Given the description of an element on the screen output the (x, y) to click on. 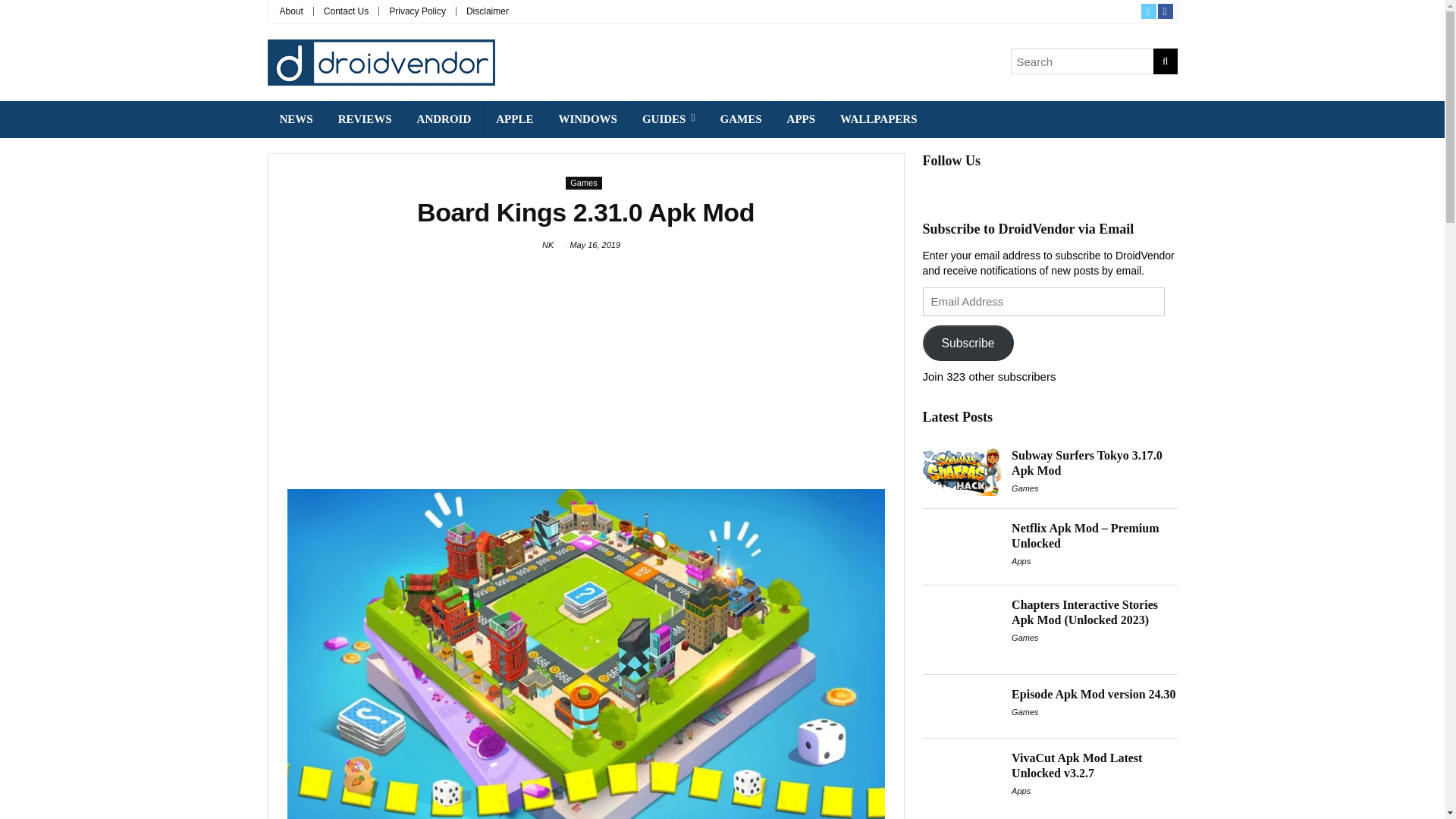
Disclaimer (486, 10)
Privacy Policy (416, 10)
Games (583, 182)
WINDOWS (587, 119)
WALLPAPERS (878, 119)
APPLE (513, 119)
Advertisement (584, 371)
GUIDES (668, 119)
GAMES (740, 119)
NK (547, 244)
